Given the description of an element on the screen output the (x, y) to click on. 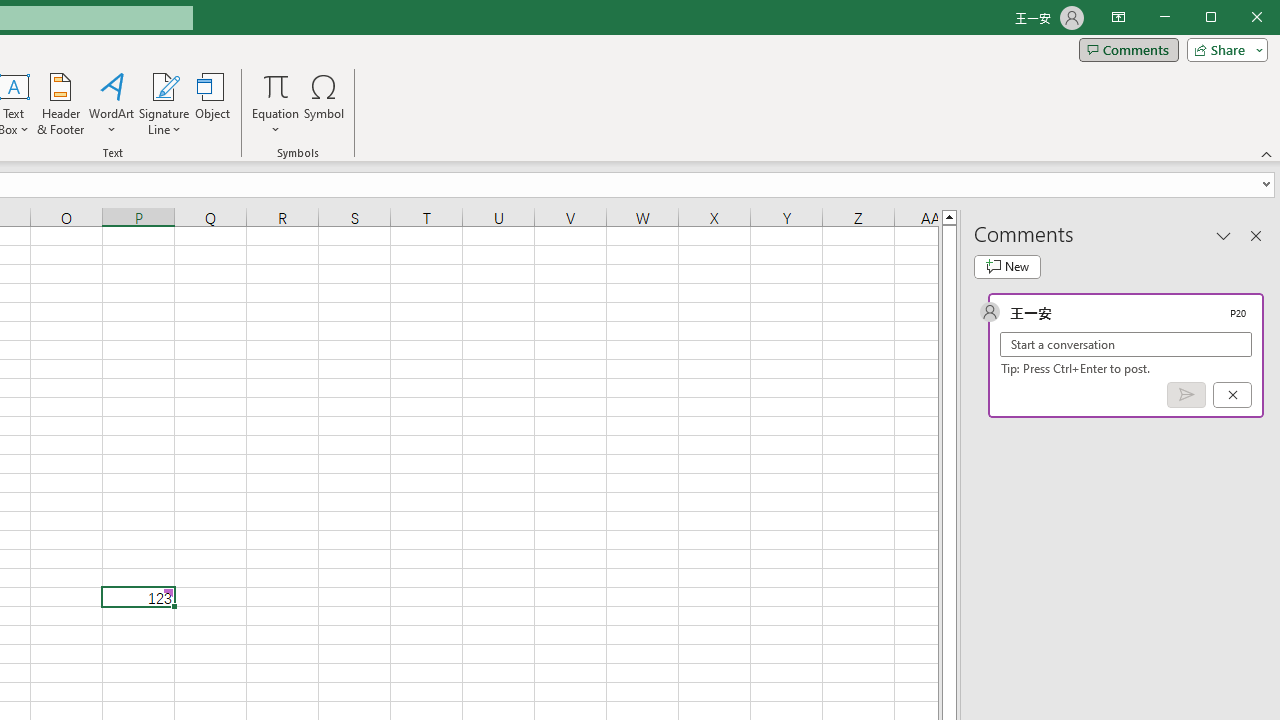
Close pane (1256, 235)
Ribbon Display Options (1118, 17)
More Options (275, 123)
New comment (1007, 266)
Close (1261, 18)
Start a conversation (1126, 344)
Comments (1128, 49)
Collapse the Ribbon (1267, 154)
Header & Footer... (60, 104)
Signature Line (164, 104)
WordArt (111, 104)
Signature Line (164, 86)
Equation (275, 104)
Share (1223, 49)
